Given the description of an element on the screen output the (x, y) to click on. 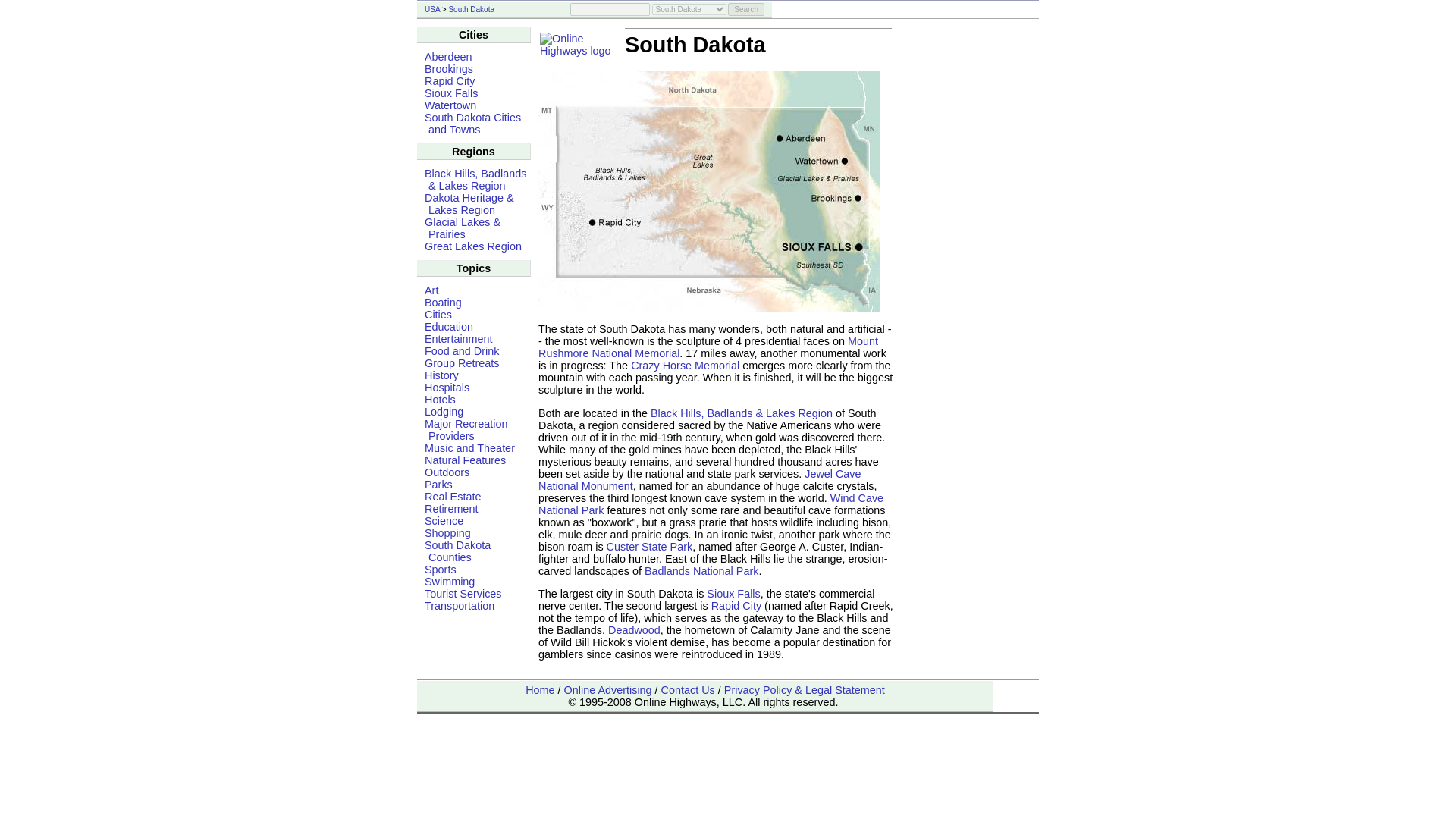
Great Lakes Region (473, 246)
Cities (438, 314)
Parks (438, 484)
Sioux Falls (733, 593)
Sioux Falls (451, 92)
Rapid City (736, 605)
South Dakota Cities and Towns (473, 123)
Search (746, 9)
Wind Cave National Park (710, 504)
Natural Features (465, 460)
Search (746, 9)
Music and Theater (470, 448)
Education (449, 326)
Crazy Horse Memorial (684, 365)
Lodging (444, 411)
